Given the description of an element on the screen output the (x, y) to click on. 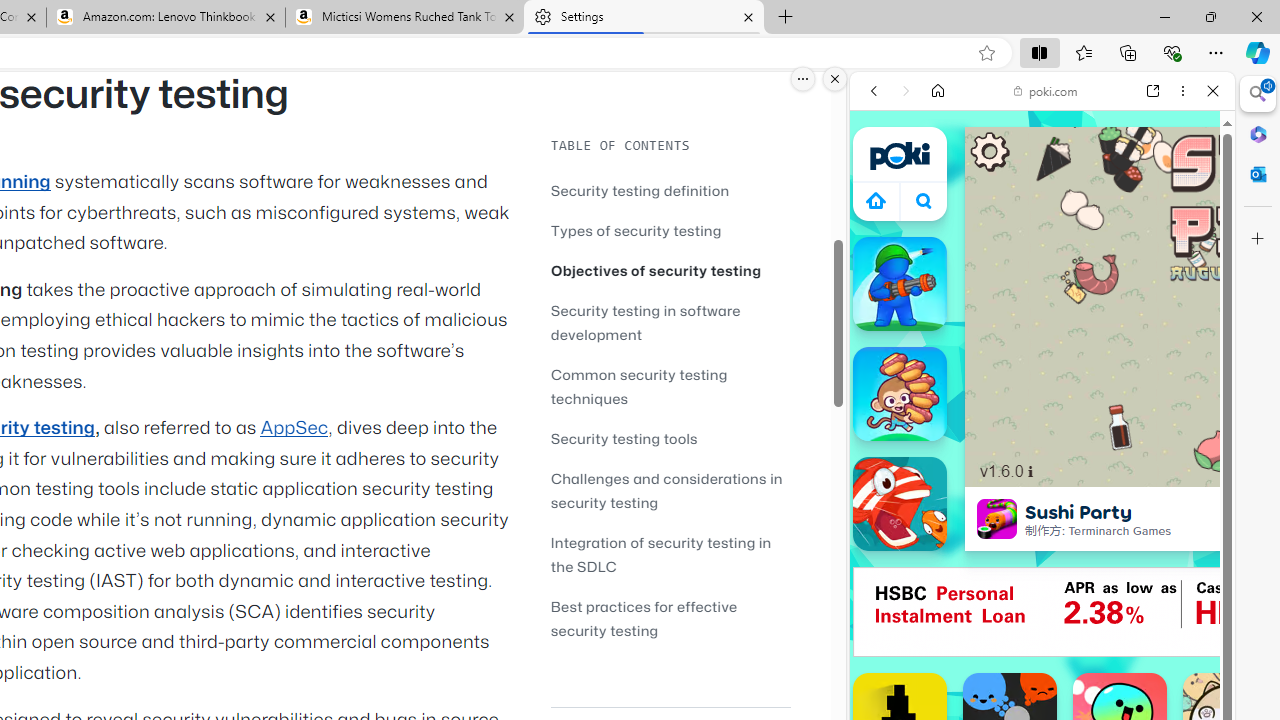
Common security testing techniques (639, 385)
Security testing definition (639, 190)
Best practices for effective security testing (644, 618)
More options. (803, 79)
War Master (899, 283)
Two Player Games (1042, 567)
Show More Io Games (1164, 619)
Car Games (1042, 470)
